Given the description of an element on the screen output the (x, y) to click on. 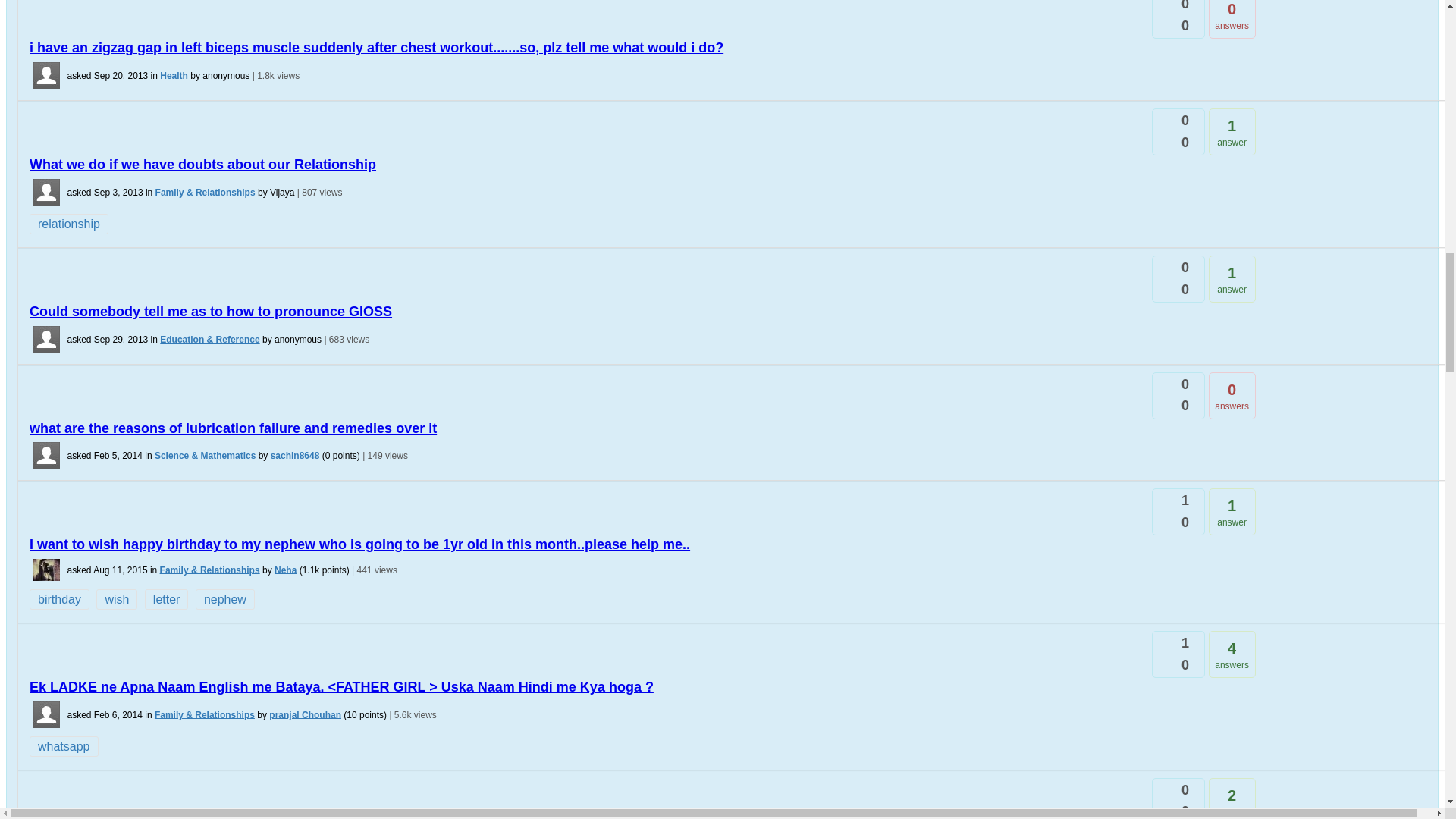
Click to vote up (1159, 2)
Click to vote down (1159, 29)
